Given the description of an element on the screen output the (x, y) to click on. 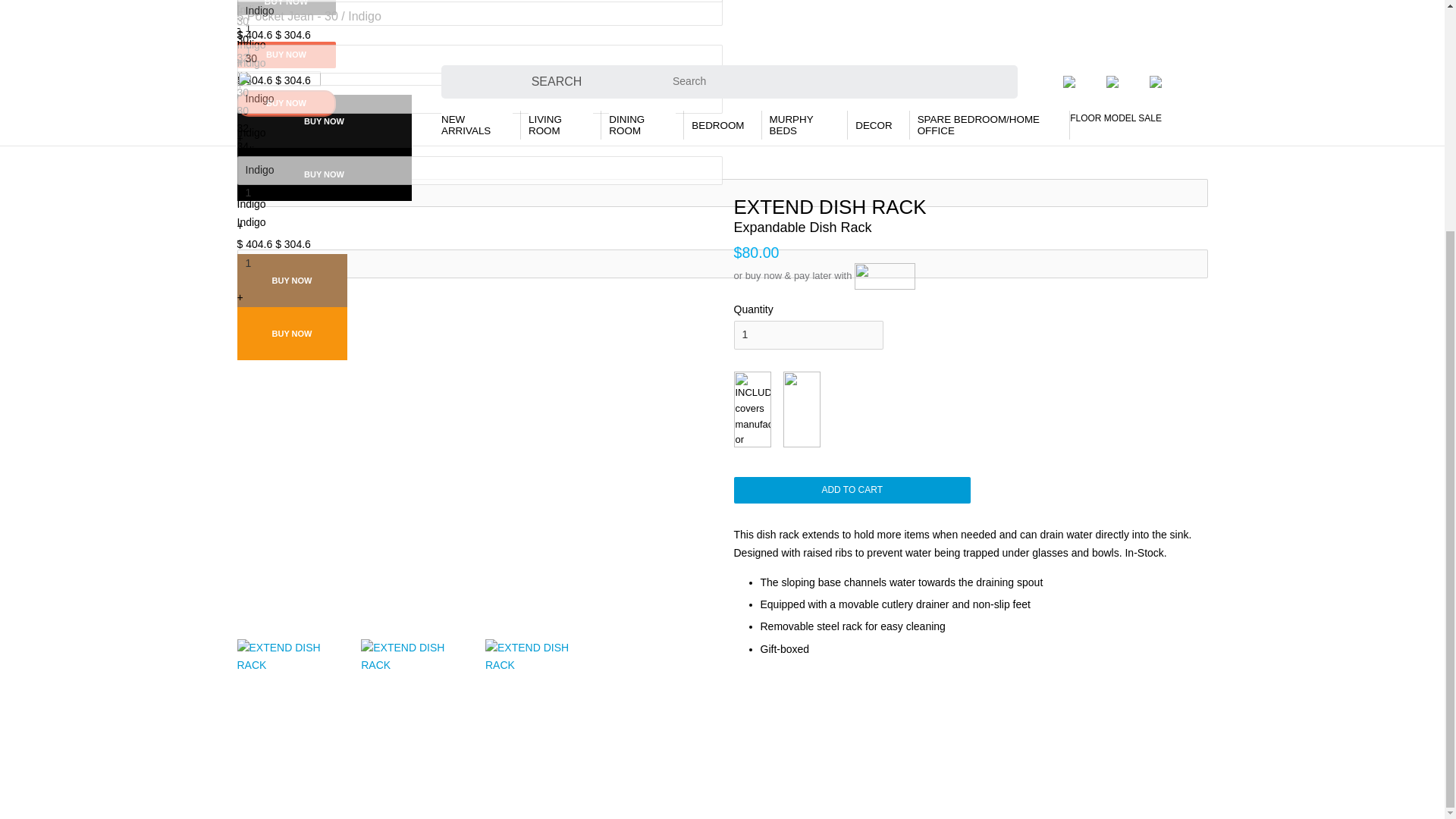
1 (808, 335)
NEW ARRIVALS (476, 124)
BUY NOW (322, 121)
BUY NOW (290, 333)
1 (721, 28)
BUY NOW (284, 54)
BUY NOW (284, 7)
BUY NOW (322, 174)
BUY NOW (290, 280)
BUY NOW (284, 103)
